Given the description of an element on the screen output the (x, y) to click on. 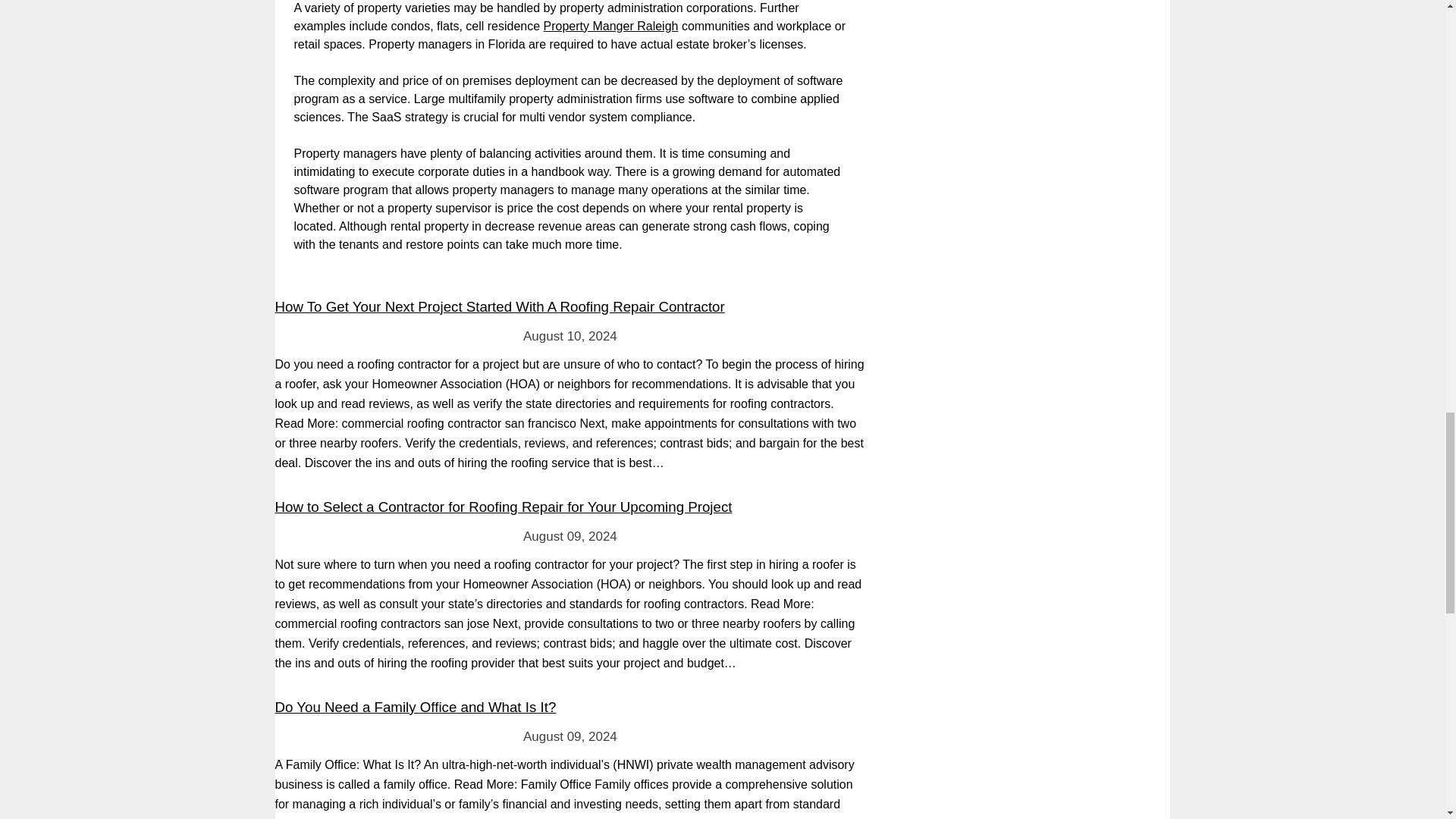
Property Manger Raleigh (610, 25)
Do You Need a Family Office and What Is It? (415, 706)
